Given the description of an element on the screen output the (x, y) to click on. 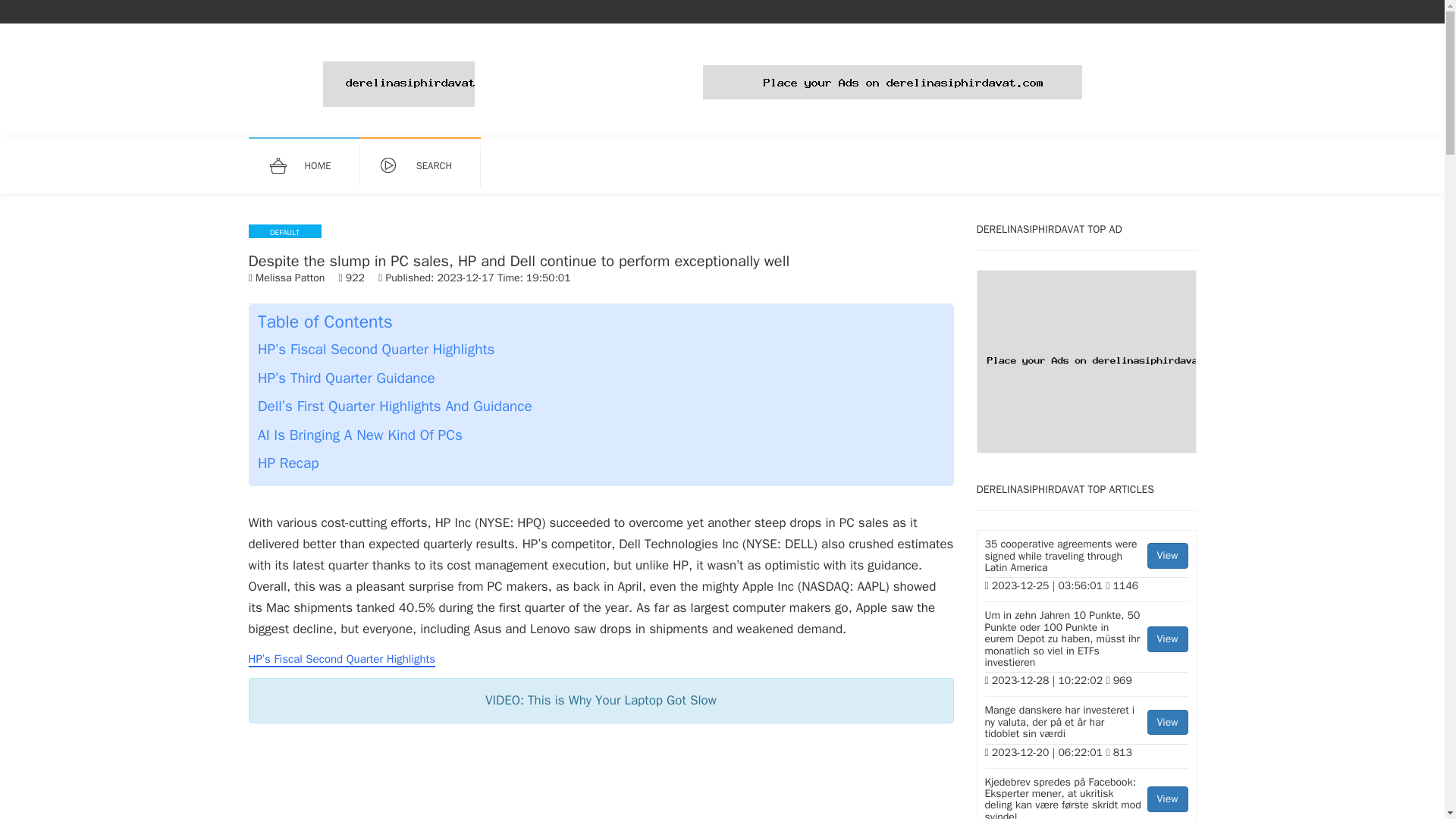
This is Why Your Laptop Got Slow (600, 778)
HOME (311, 165)
SEARCH (427, 165)
View (1167, 722)
View (1167, 555)
View (1167, 799)
HP Recap (287, 463)
AI Is Bringing A New Kind Of PCs (360, 434)
DEFAULT (284, 231)
